Given the description of an element on the screen output the (x, y) to click on. 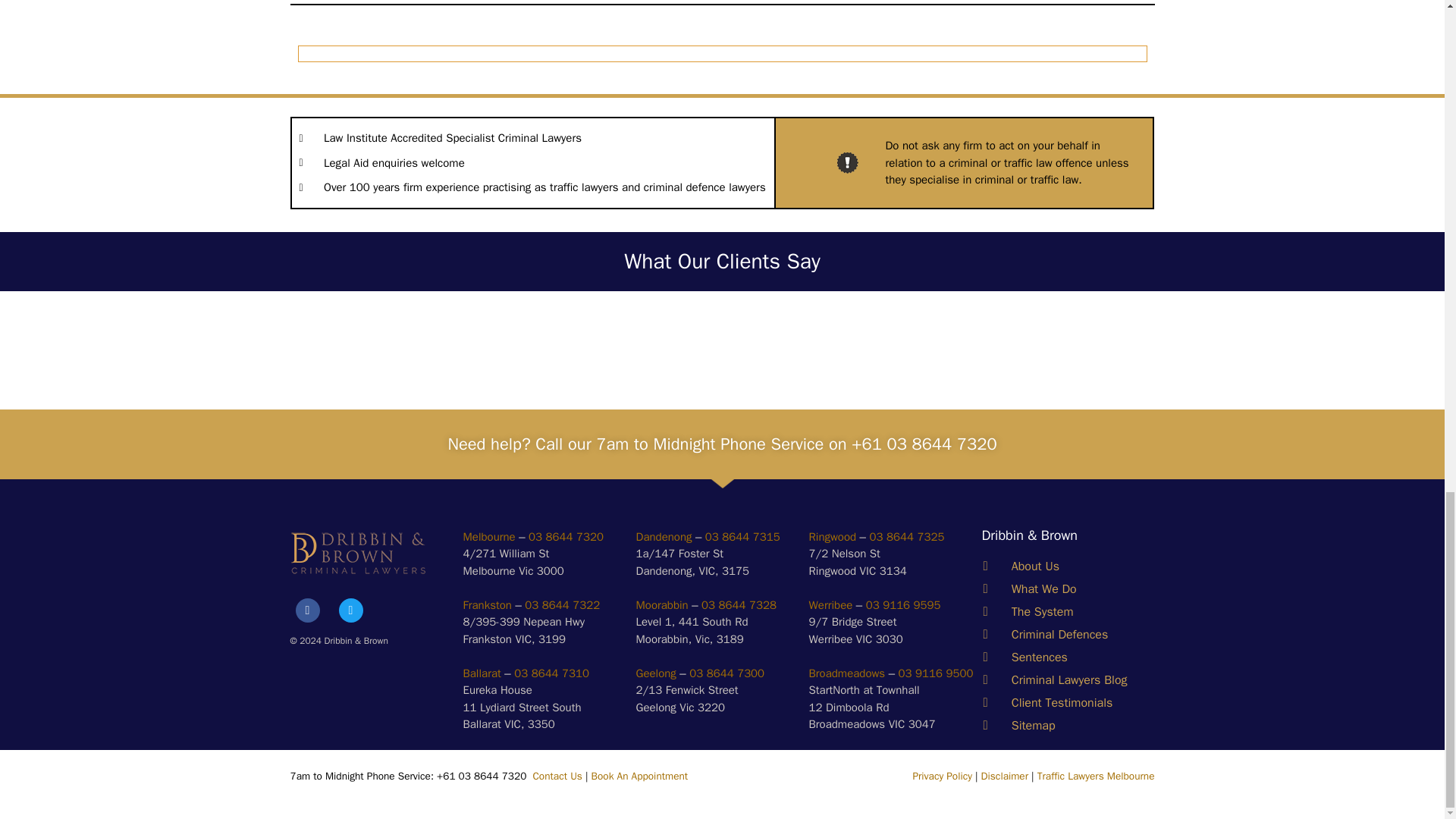
View contact details (654, 673)
View contact details (660, 604)
View contact details (489, 536)
Traffic Lawyers Melbourne (1095, 775)
View contact details (487, 604)
View contact details (846, 673)
View contact details (662, 536)
View contact details (832, 536)
View contact details (829, 604)
View contact details (481, 673)
